Given the description of an element on the screen output the (x, y) to click on. 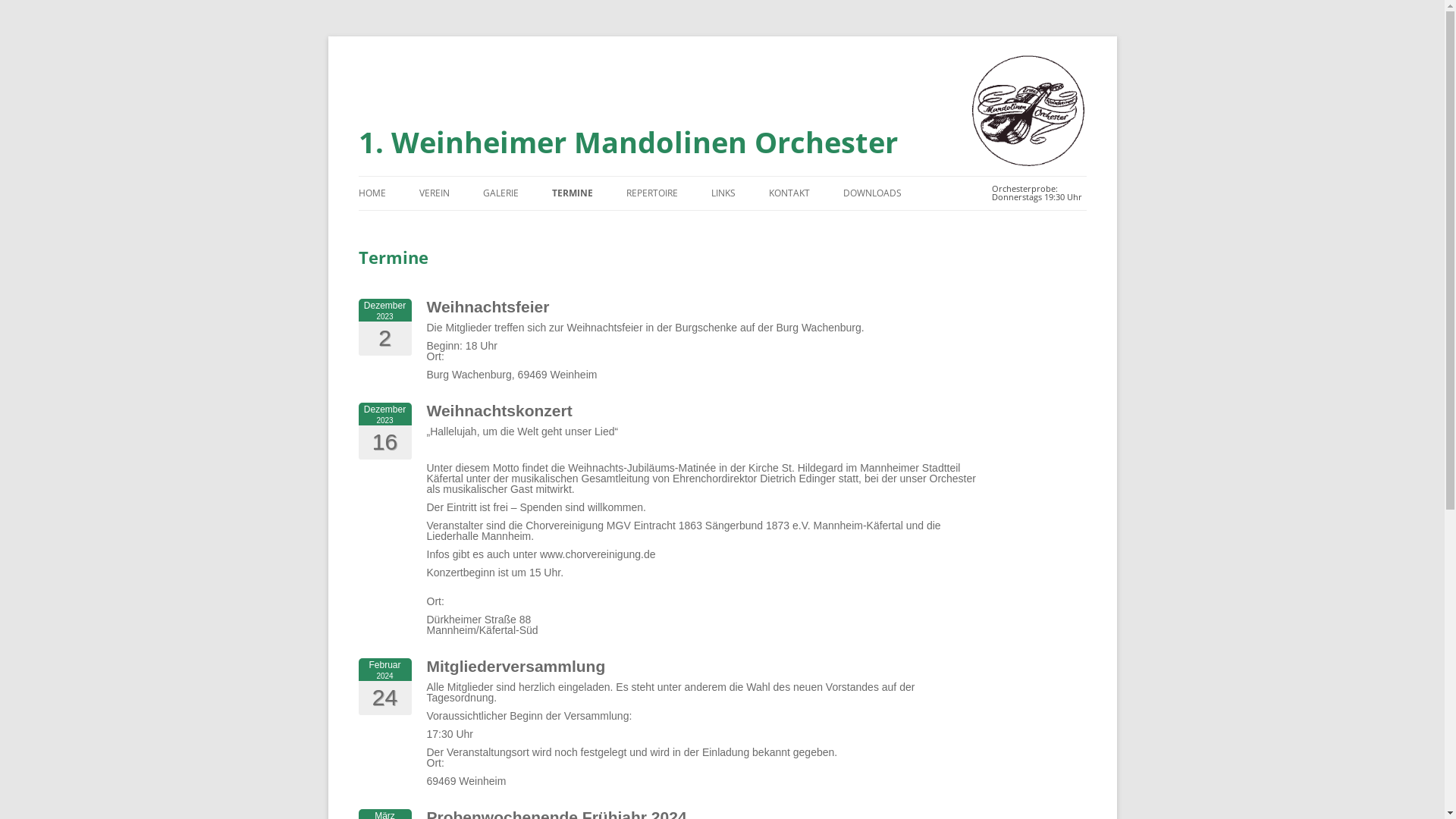
TERMINE Element type: text (572, 193)
GALERIE Element type: text (499, 193)
VEREIN Element type: text (433, 193)
HOME Element type: text (371, 193)
KONTAKT Element type: text (788, 193)
REPERTOIRE Element type: text (651, 193)
DOWNLOADS Element type: text (872, 193)
LINKS Element type: text (723, 193)
